Given the description of an element on the screen output the (x, y) to click on. 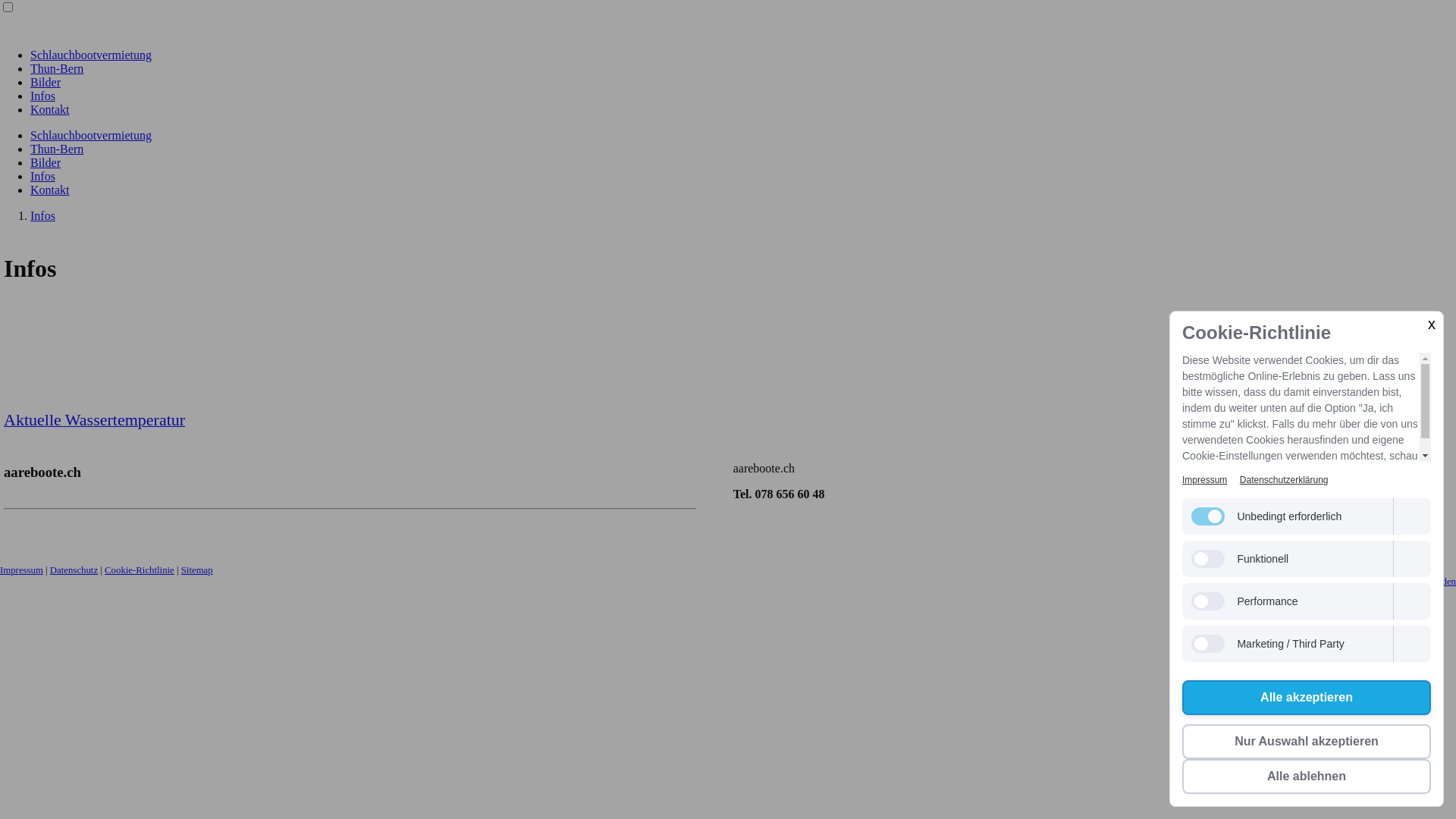
Nur Auswahl akzeptieren Element type: text (1306, 741)
Impressum Element type: text (1204, 479)
Kontakt Element type: text (49, 109)
Sitemap Element type: text (197, 569)
Infos Element type: text (42, 95)
Bilder Element type: text (45, 162)
Thun-Bern Element type: text (56, 68)
Cookie-Richtlinie Element type: text (139, 569)
Schlauchbootvermietung Element type: text (90, 134)
Infos Element type: text (42, 215)
Alle akzeptieren Element type: text (1306, 697)
Alle ablehnen Element type: text (1306, 776)
Aktuelle Wassertemperatur Element type: text (94, 420)
Impressum Element type: text (21, 569)
Schlauchbootvermietung Element type: text (90, 54)
Bilder Element type: text (45, 81)
Thun-Bern Element type: text (56, 148)
Datenschutz Element type: text (73, 569)
Kontakt Element type: text (49, 189)
Infos Element type: text (42, 175)
